Given the description of an element on the screen output the (x, y) to click on. 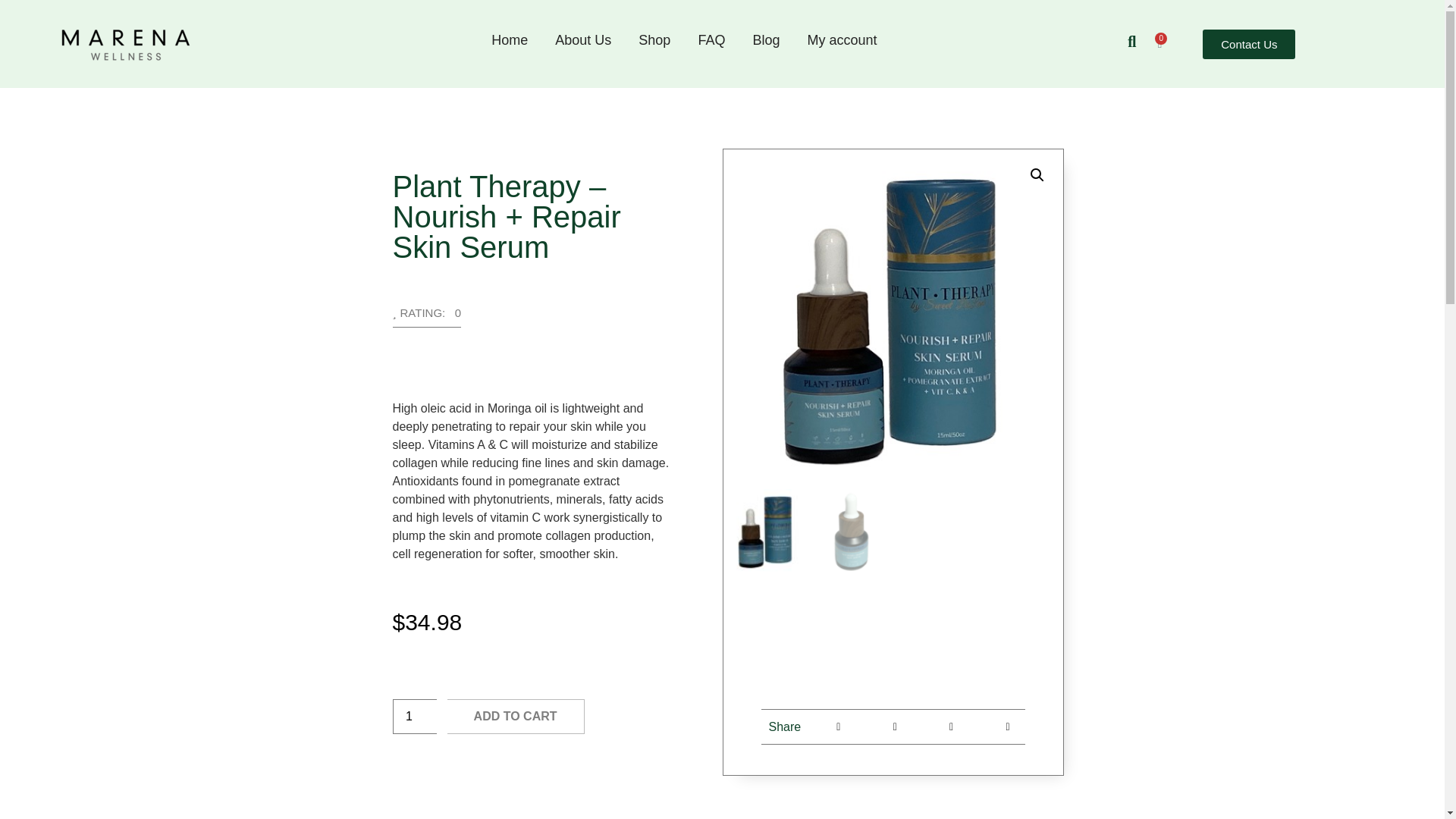
Nourish Repair2.PNG (892, 318)
RATING:   0 (427, 317)
Contact Us (1248, 43)
Blog (765, 39)
1 (414, 716)
0 (1159, 43)
FAQ (711, 39)
My account (841, 39)
About Us (582, 39)
Home (509, 39)
ADD TO CART (515, 716)
Shop (654, 39)
